Given the description of an element on the screen output the (x, y) to click on. 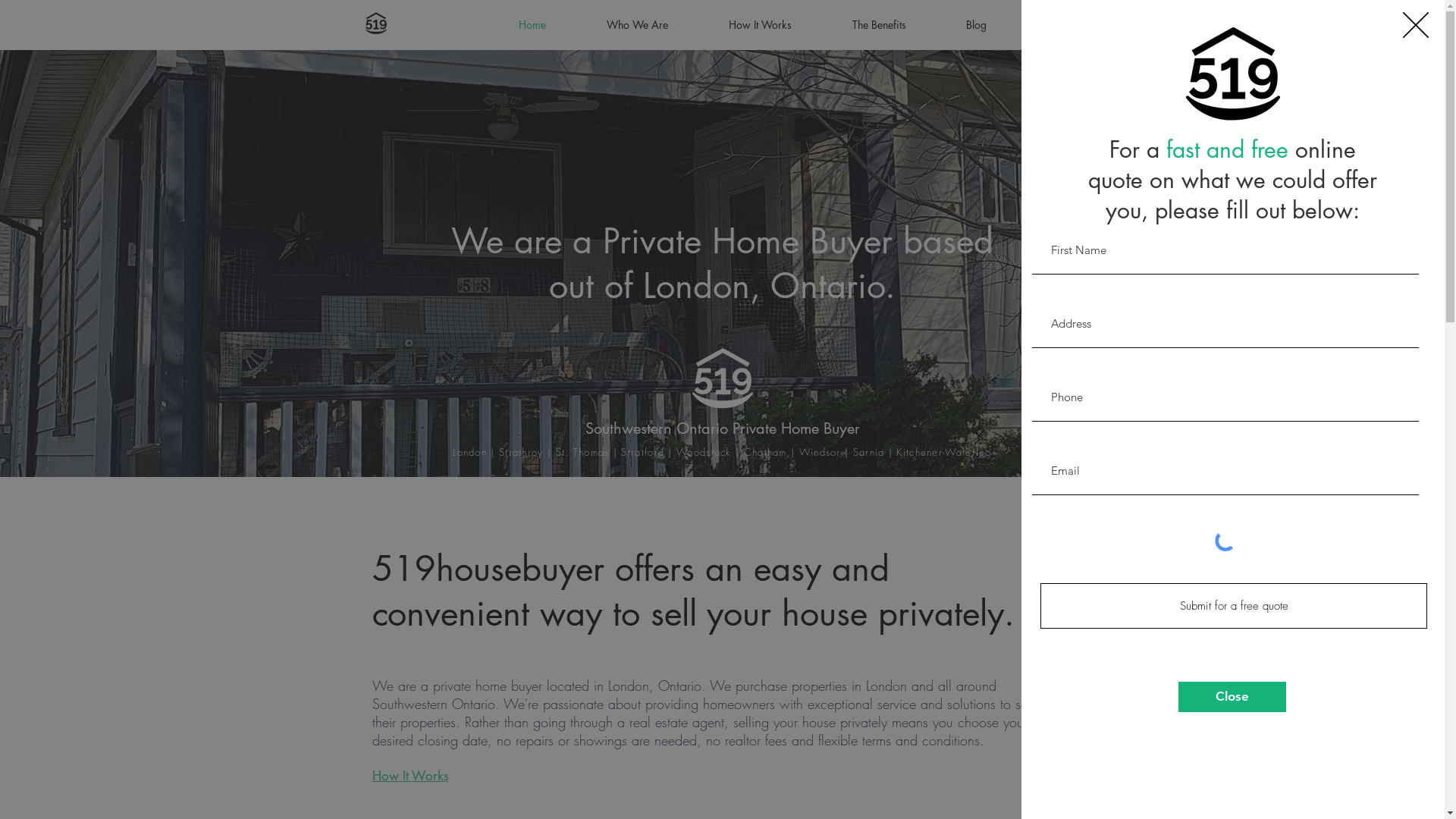
Home Element type: text (518, 24)
Who We Are Element type: text (617, 24)
Contact us Element type: text (1045, 24)
How It Works Element type: text (434, 775)
The Benefits Element type: text (859, 24)
Back to site Element type: hover (1415, 24)
Submit for a free quote Element type: text (1233, 605)
How It Works Element type: text (741, 24)
Blog Element type: text (957, 24)
